Given the description of an element on the screen output the (x, y) to click on. 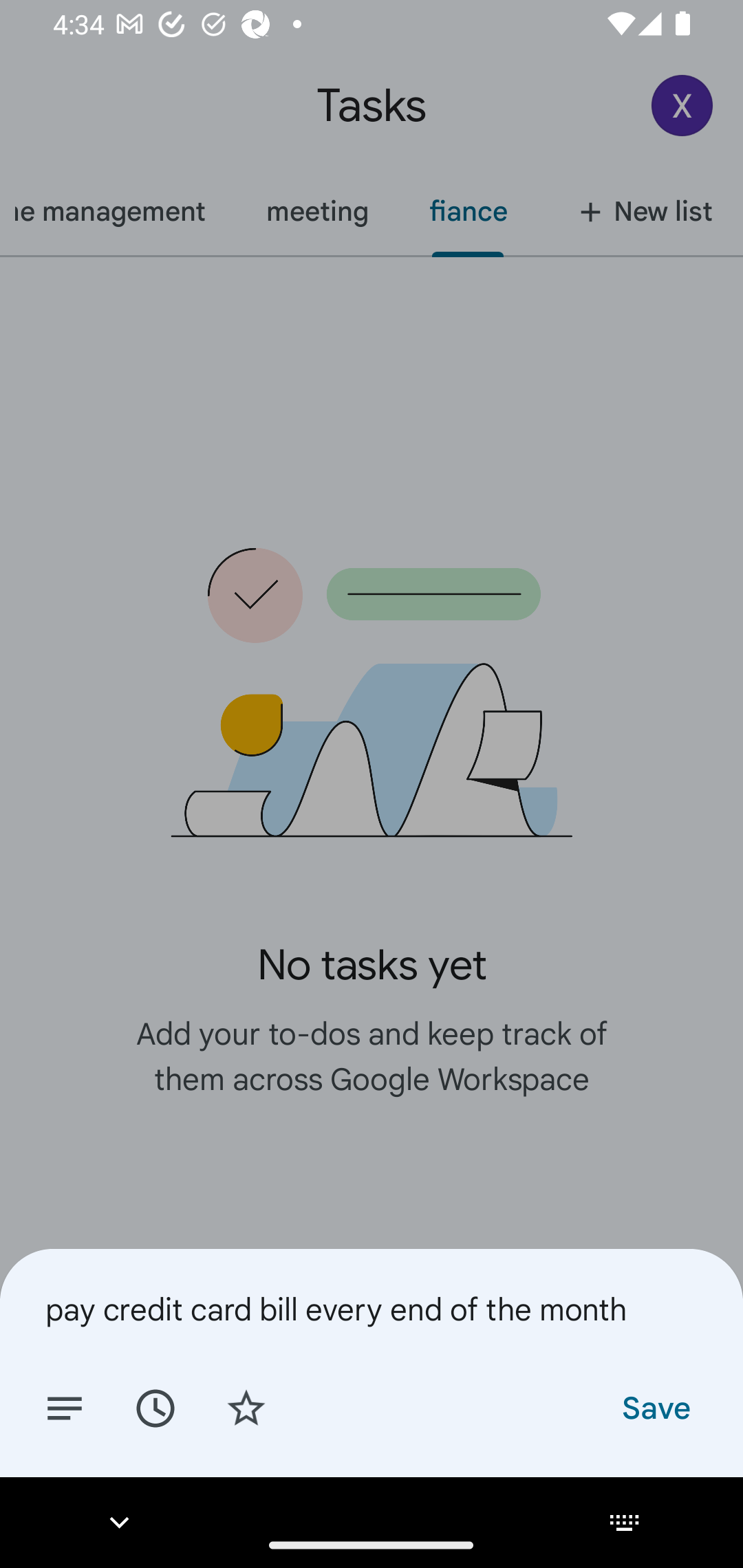
pay credit card bill every end of the month (371, 1308)
Save (655, 1407)
Add details (64, 1407)
Set date/time (154, 1407)
Add star (245, 1407)
